Given the description of an element on the screen output the (x, y) to click on. 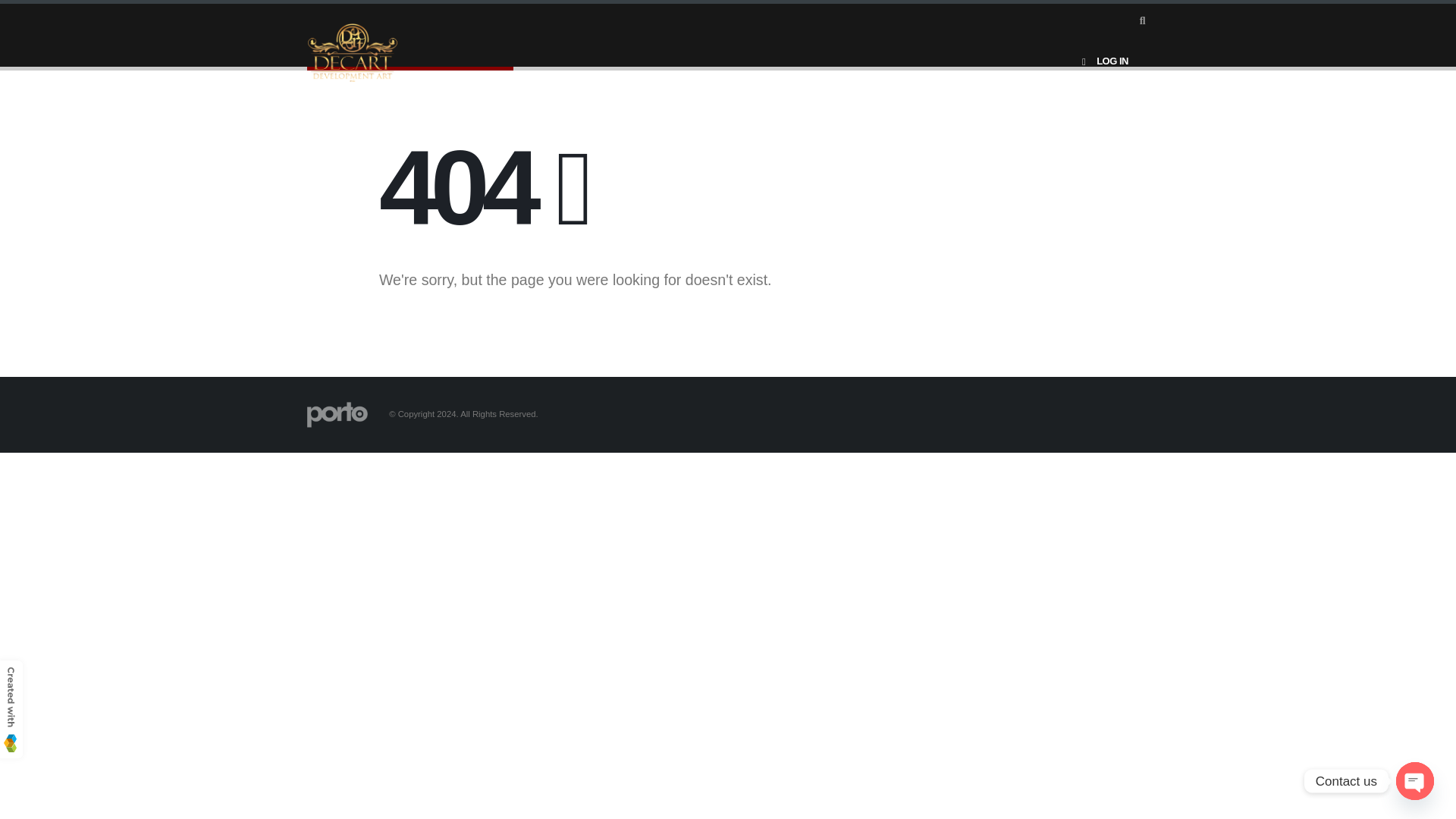
Go to Home Page (320, 21)
HOME (320, 21)
LOG IN (1102, 61)
